Given the description of an element on the screen output the (x, y) to click on. 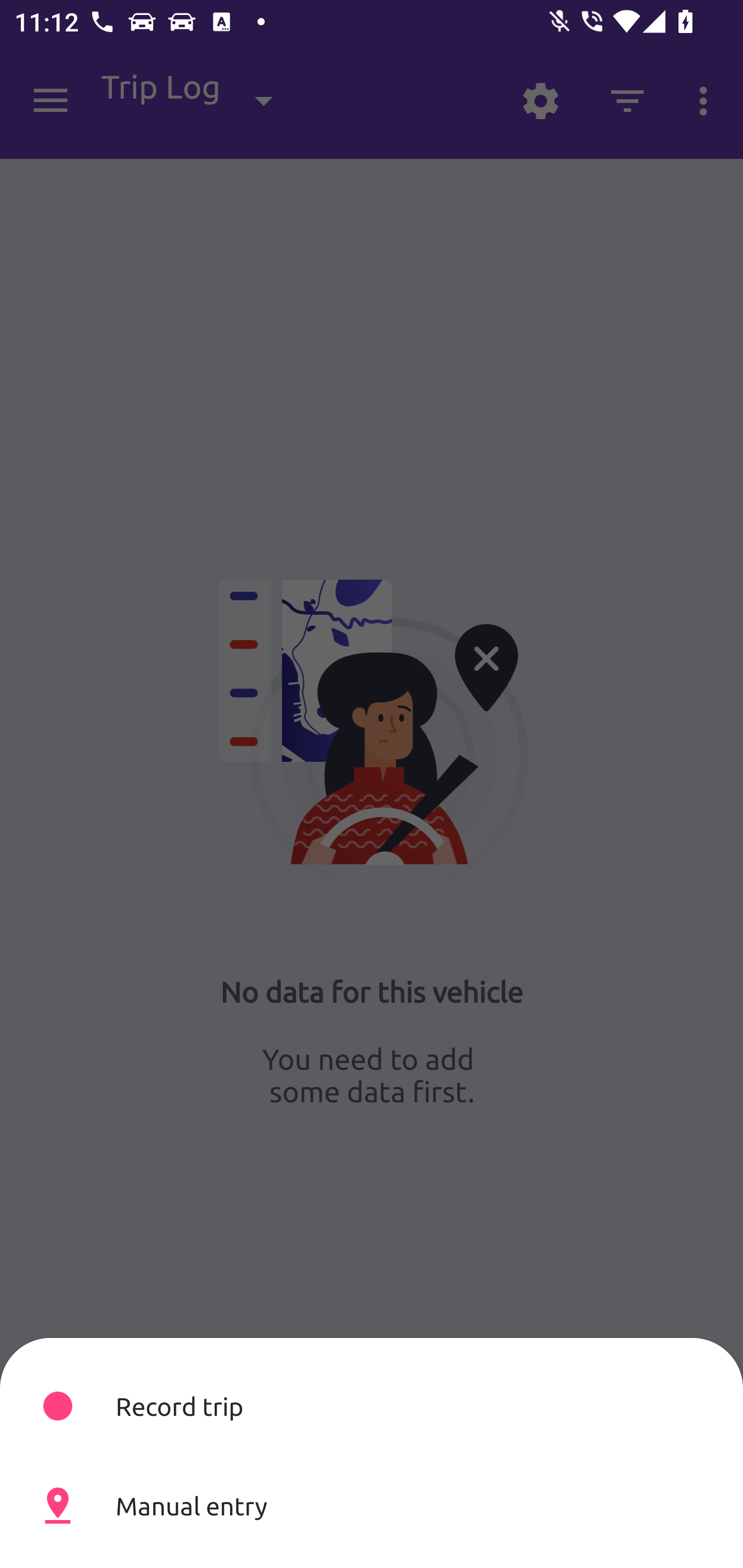
Add screen Record trip (371, 1405)
Add screen Manual entry (371, 1505)
